Given the description of an element on the screen output the (x, y) to click on. 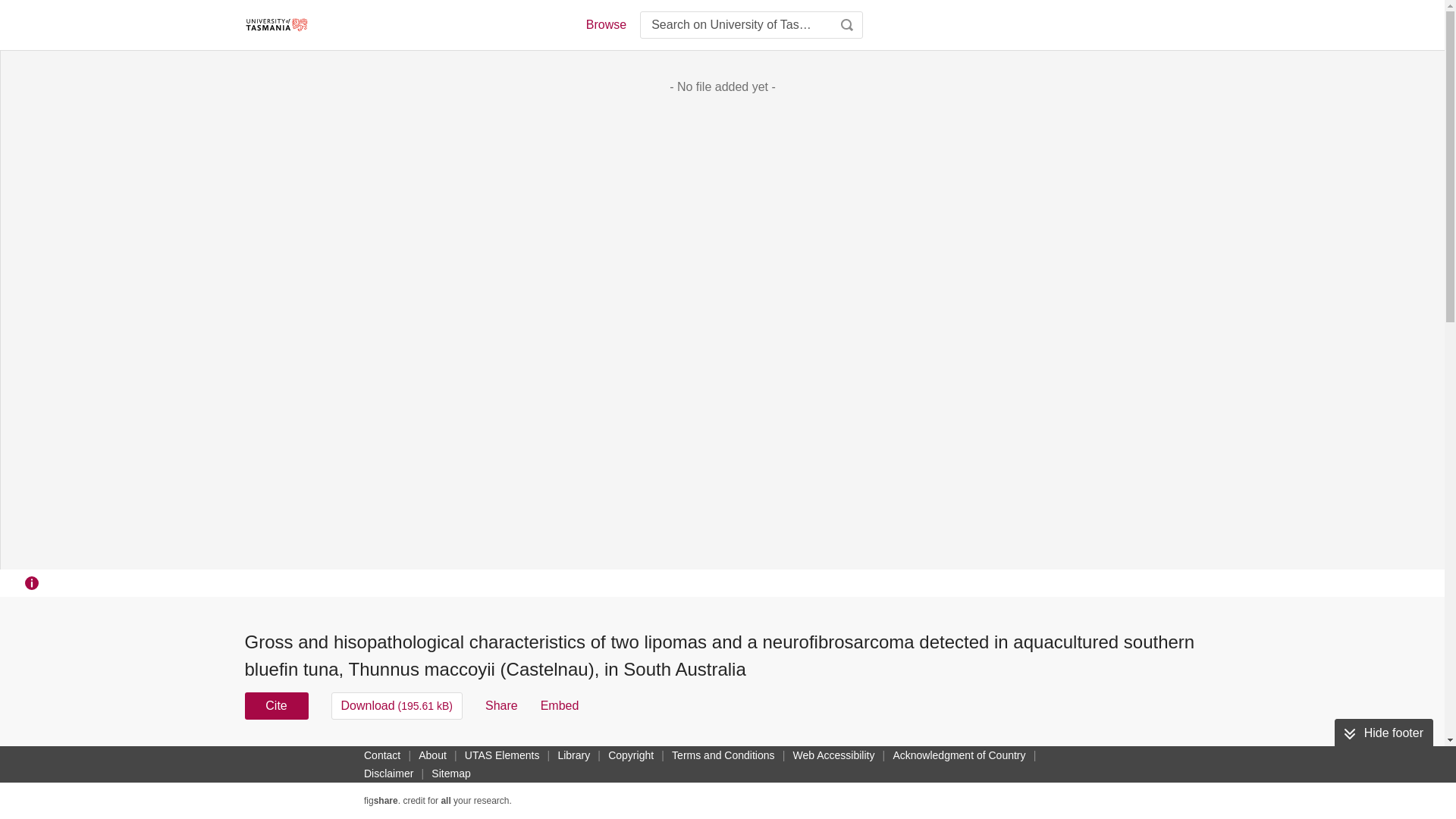
Cite (275, 705)
Acknowledgment of Country (958, 755)
UTAS Elements (502, 755)
Barbara Nowak (830, 755)
Embed (559, 705)
Web Accessibility (834, 755)
USAGE METRICS (976, 759)
Sitemap (450, 773)
About (432, 755)
Contact (381, 755)
